Given the description of an element on the screen output the (x, y) to click on. 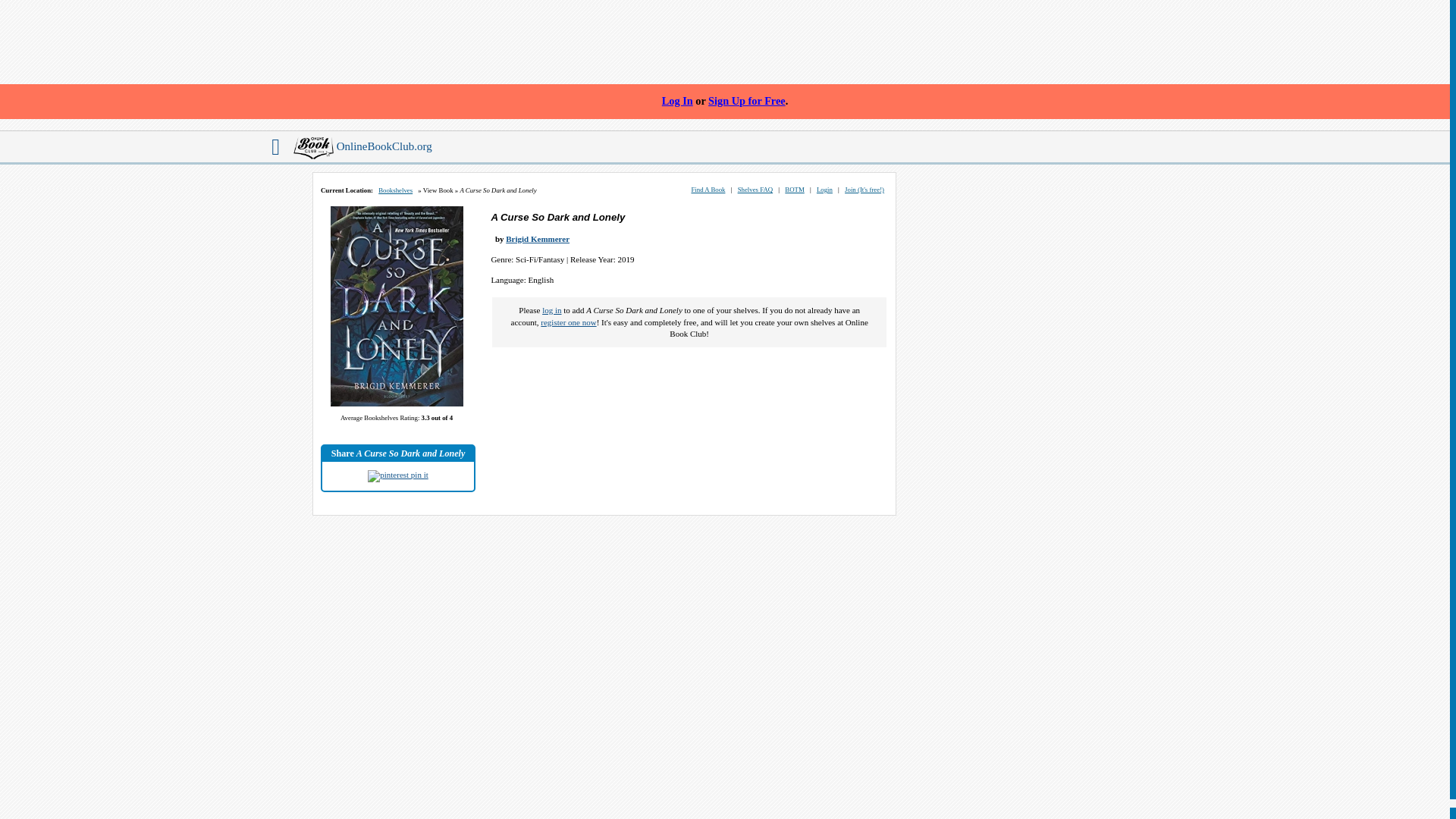
Sign Up for Free (746, 101)
Log In (677, 101)
Advertisement (724, 38)
